Given the description of an element on the screen output the (x, y) to click on. 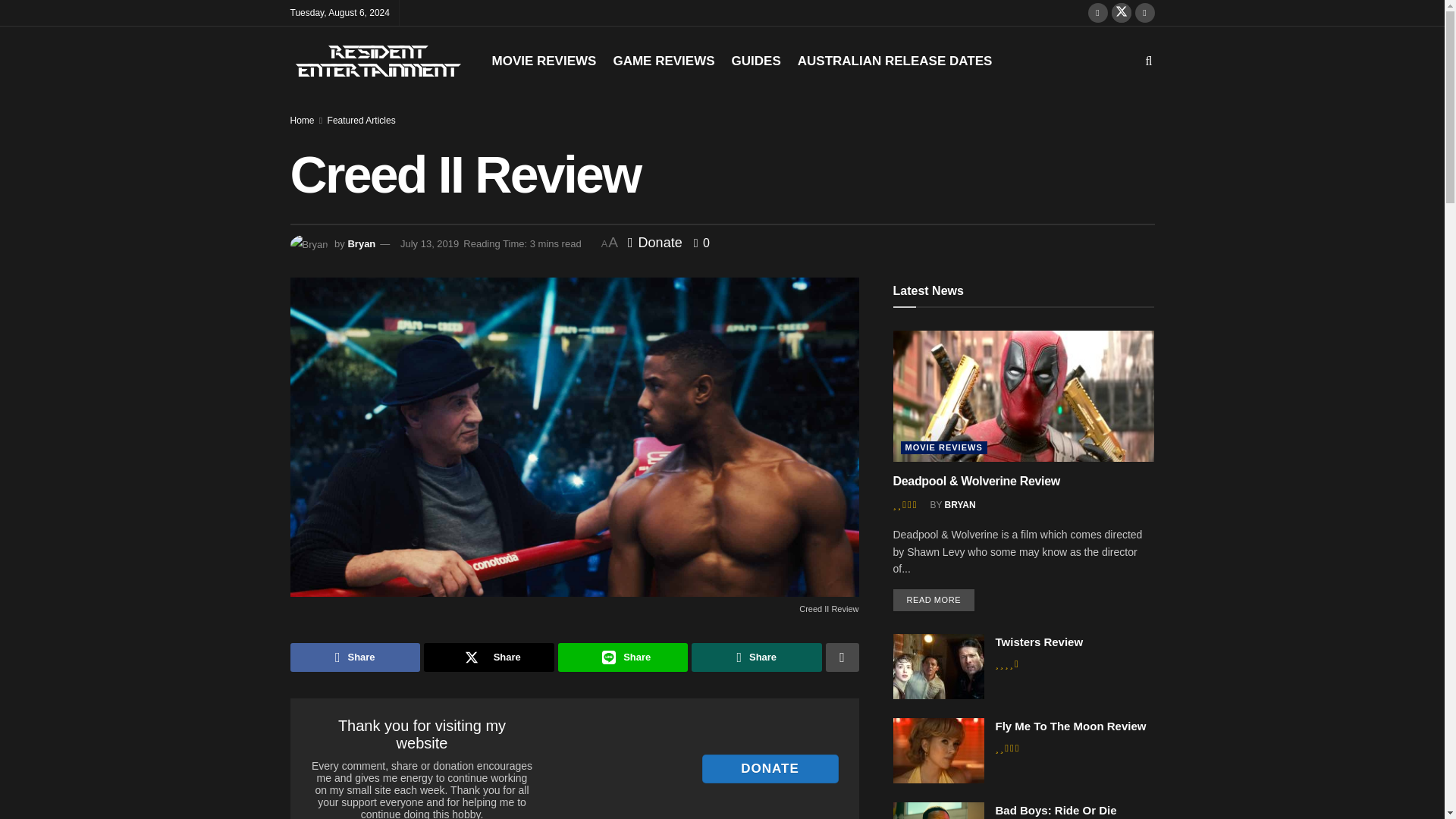
Bryan (361, 243)
July 13, 2019 (429, 243)
DONATE (769, 768)
Share (354, 656)
GAME REVIEWS (663, 61)
0 (702, 242)
Share (488, 656)
GUIDES (756, 61)
Home (301, 120)
MOVIE REVIEWS (543, 61)
Featured Articles (361, 120)
Share (622, 656)
Share (756, 656)
Donate (654, 242)
